Given the description of an element on the screen output the (x, y) to click on. 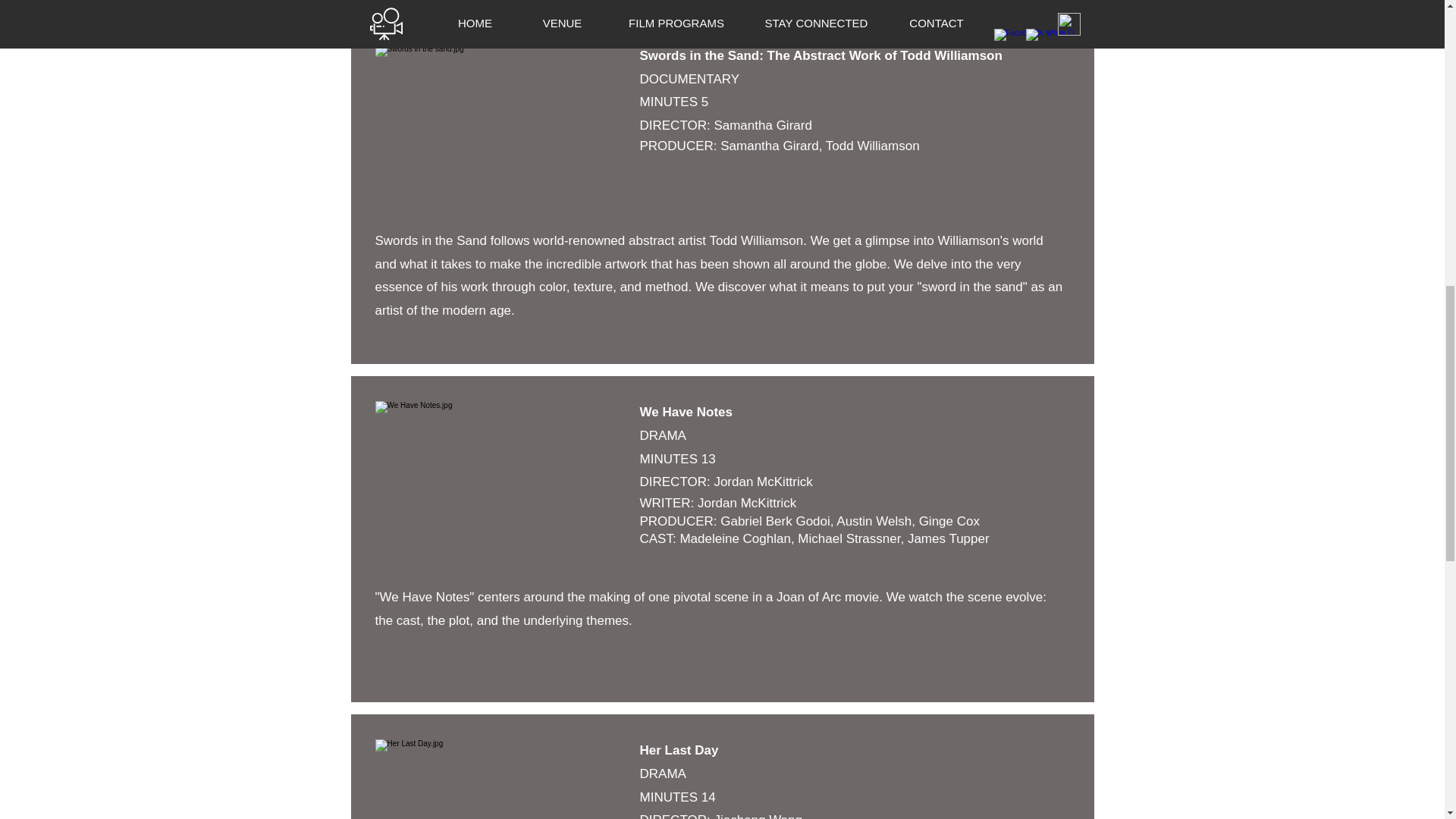
We Have Notes.jpg (498, 779)
We Have Notes.jpg (498, 122)
We Have Notes.jpg (498, 478)
